Given the description of an element on the screen output the (x, y) to click on. 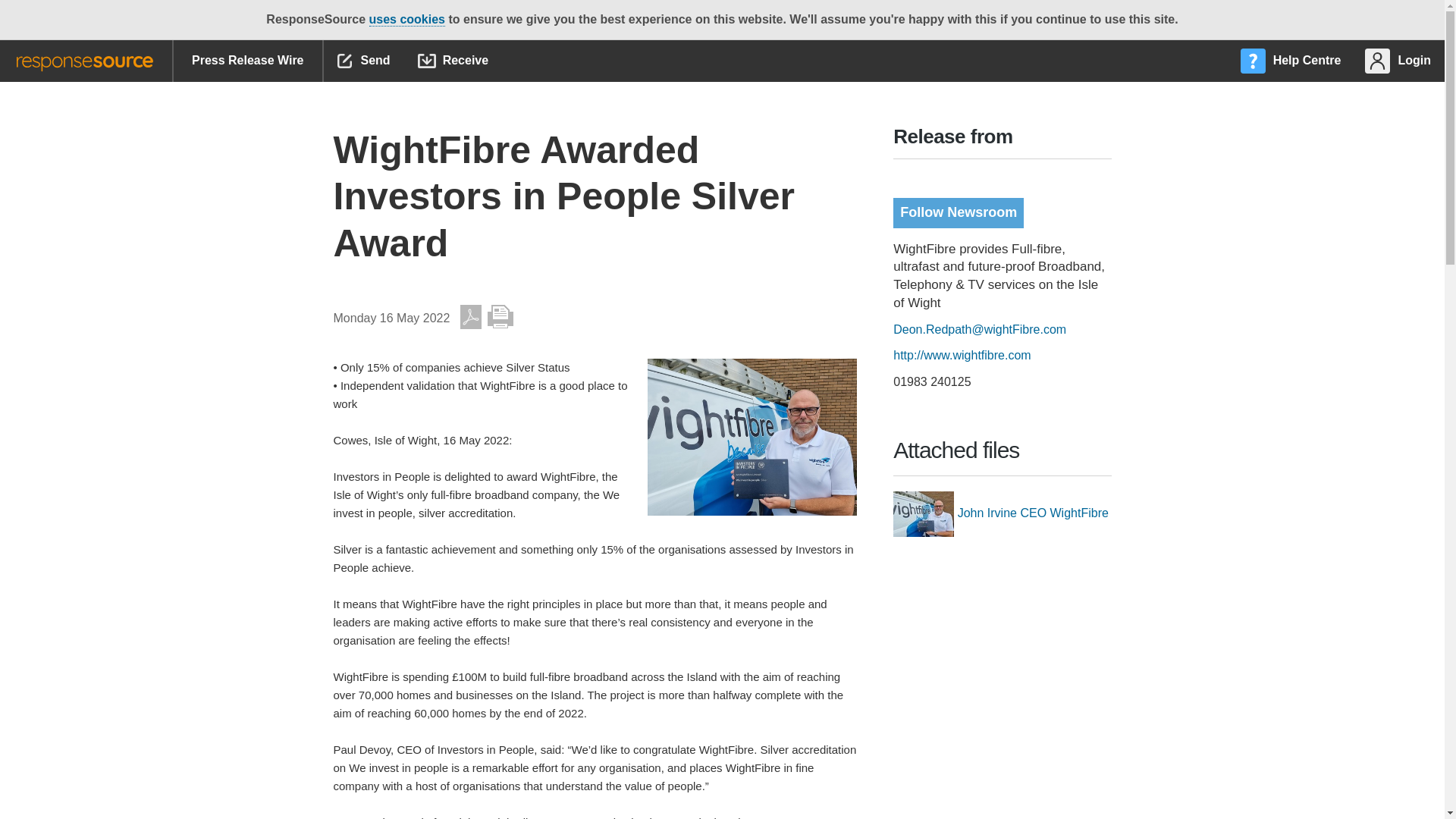
Press Release Wire (247, 60)
Print (500, 316)
uses cookies (406, 19)
Receive (453, 60)
Help Centre (1292, 60)
Send (363, 60)
